Given the description of an element on the screen output the (x, y) to click on. 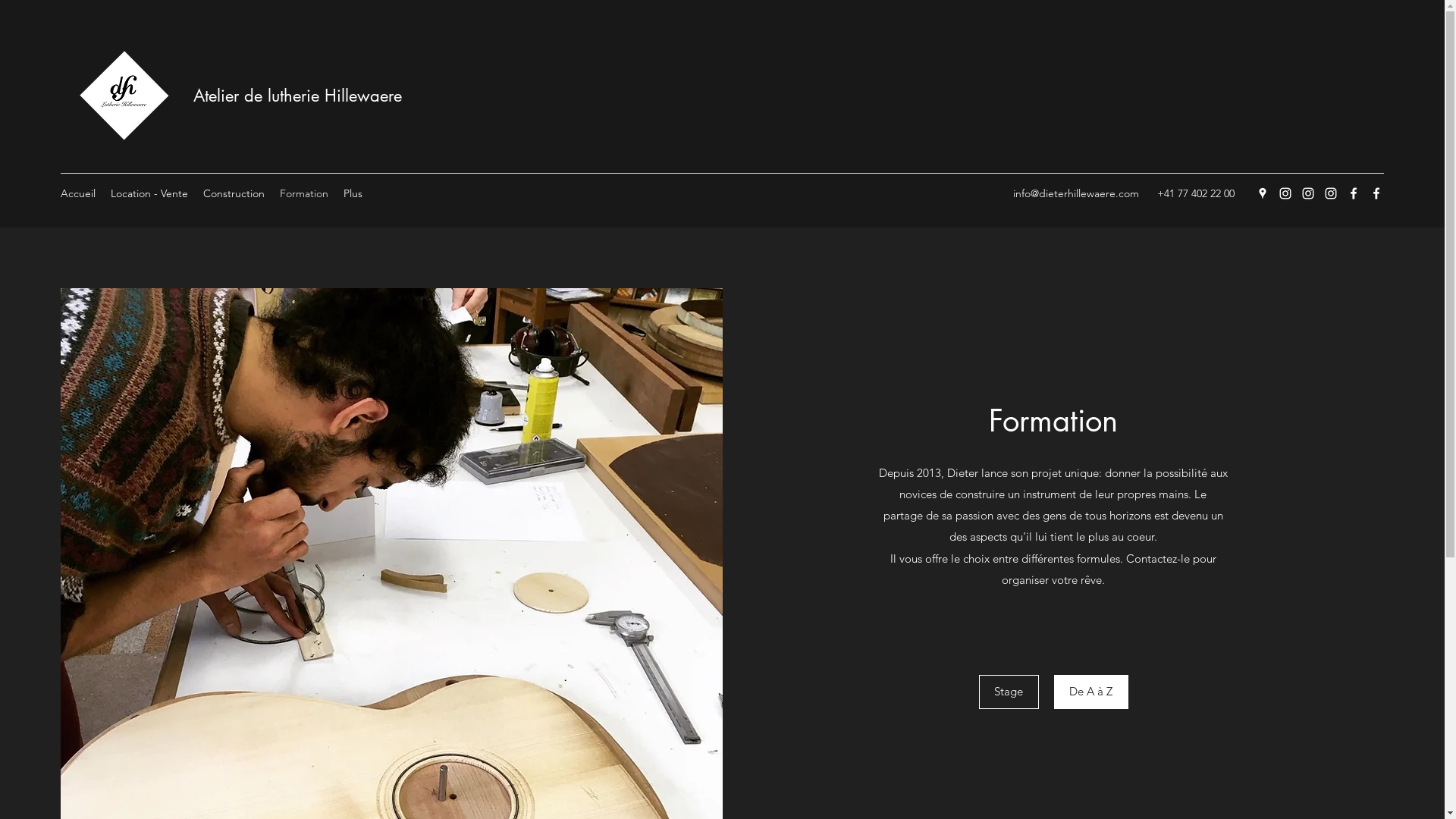
Formation Element type: text (303, 193)
info@dieterhillewaere.com Element type: text (1076, 193)
Location - Vente Element type: text (149, 193)
Atelier de lutherie Hillewaere Element type: text (297, 95)
Accueil Element type: text (78, 193)
Stage Element type: text (1008, 691)
Construction Element type: text (233, 193)
